Given the description of an element on the screen output the (x, y) to click on. 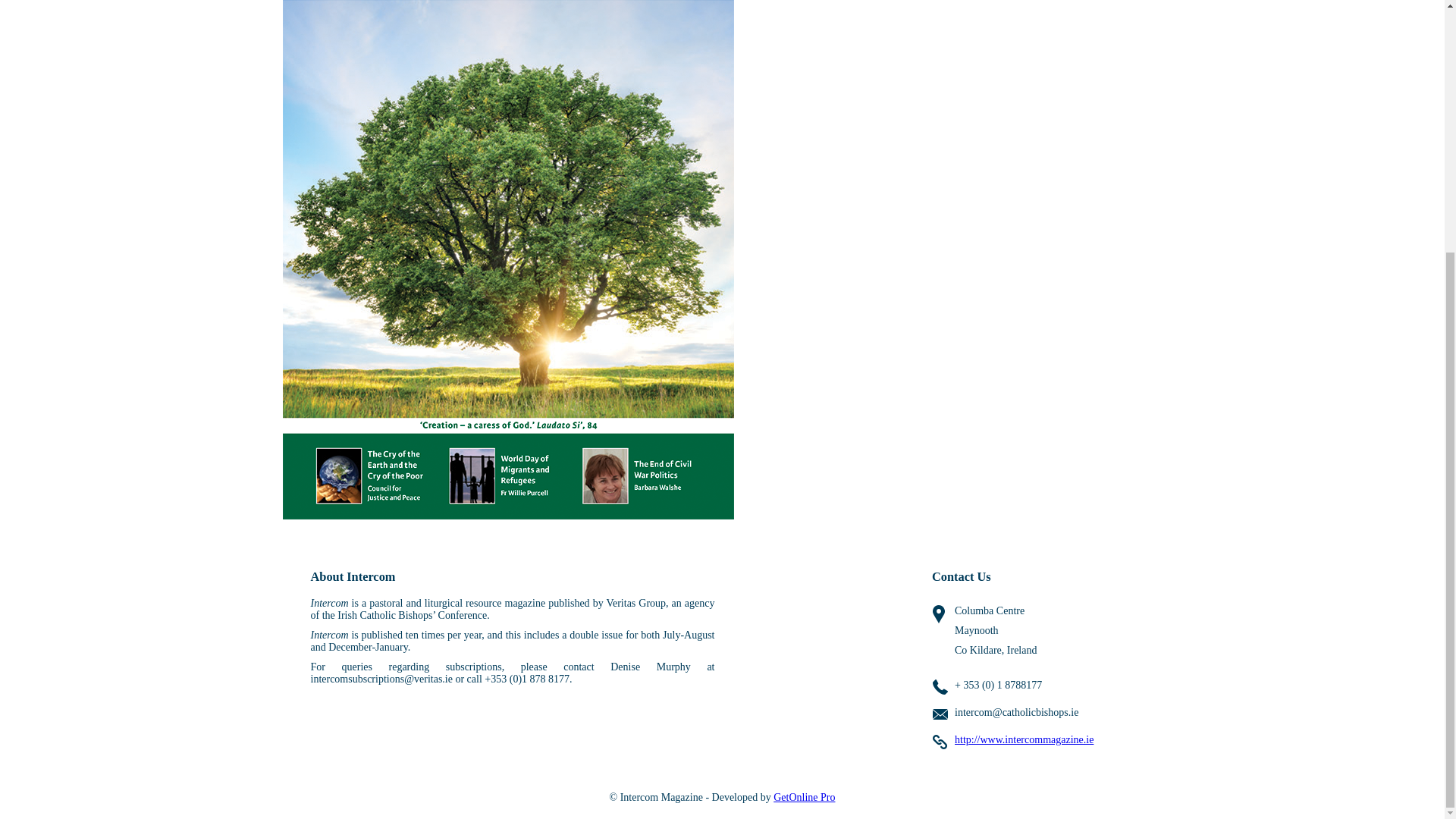
GetOnline Pro (803, 797)
